Given the description of an element on the screen output the (x, y) to click on. 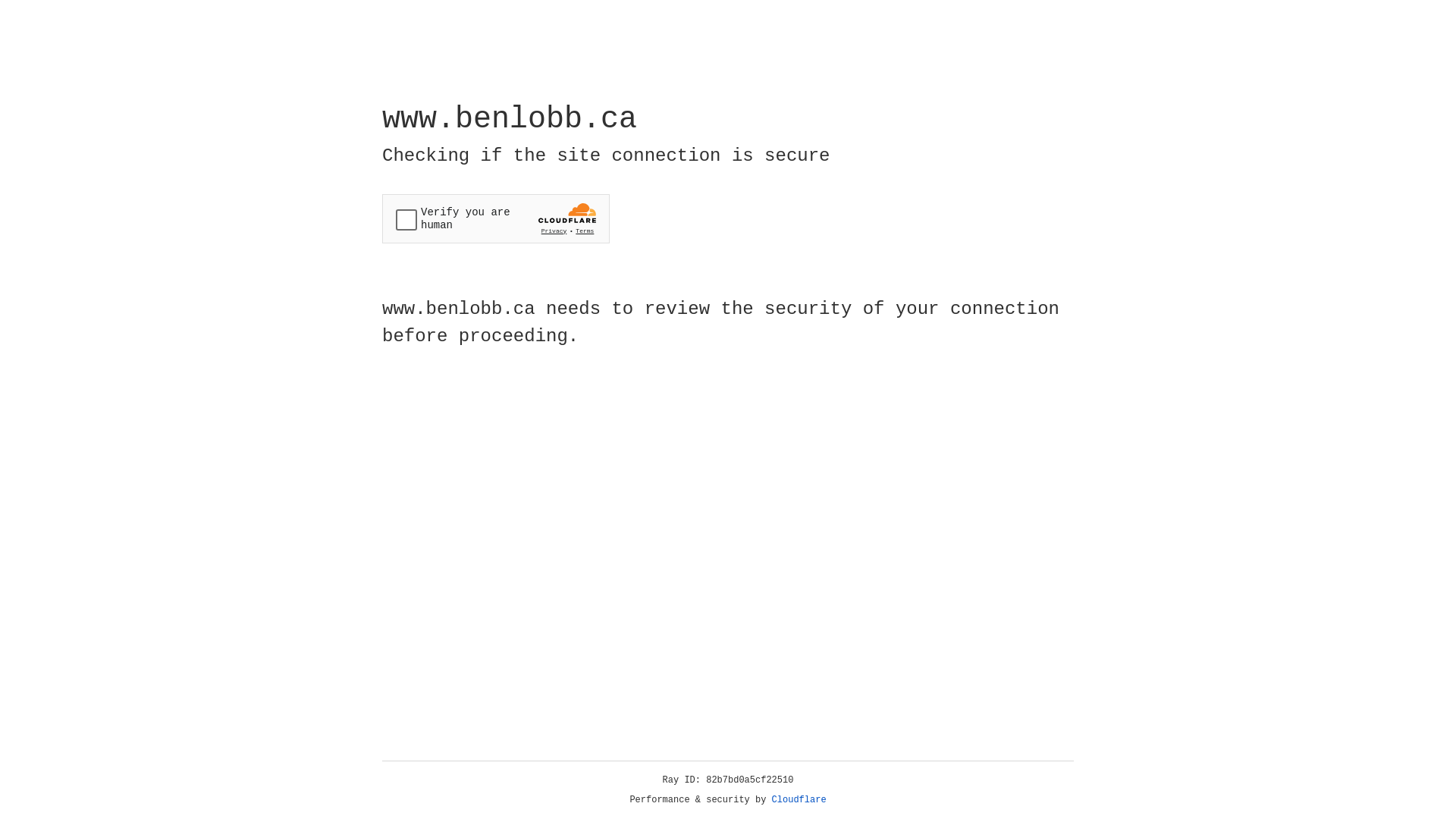
Cloudflare Element type: text (798, 799)
Widget containing a Cloudflare security challenge Element type: hover (495, 218)
